Given the description of an element on the screen output the (x, y) to click on. 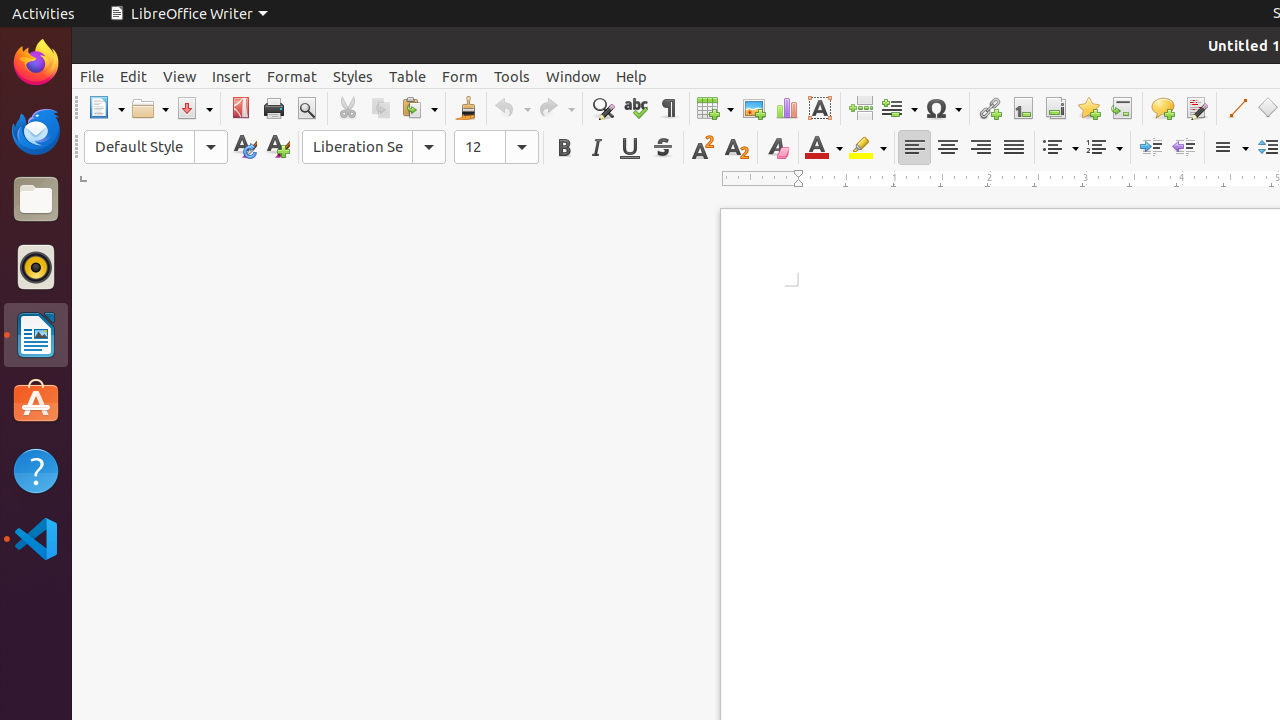
Numbering Element type: push-button (1104, 147)
Comment Element type: push-button (1162, 108)
Edit Element type: menu (133, 76)
Tools Element type: menu (512, 76)
Font Color Element type: push-button (824, 147)
